Given the description of an element on the screen output the (x, y) to click on. 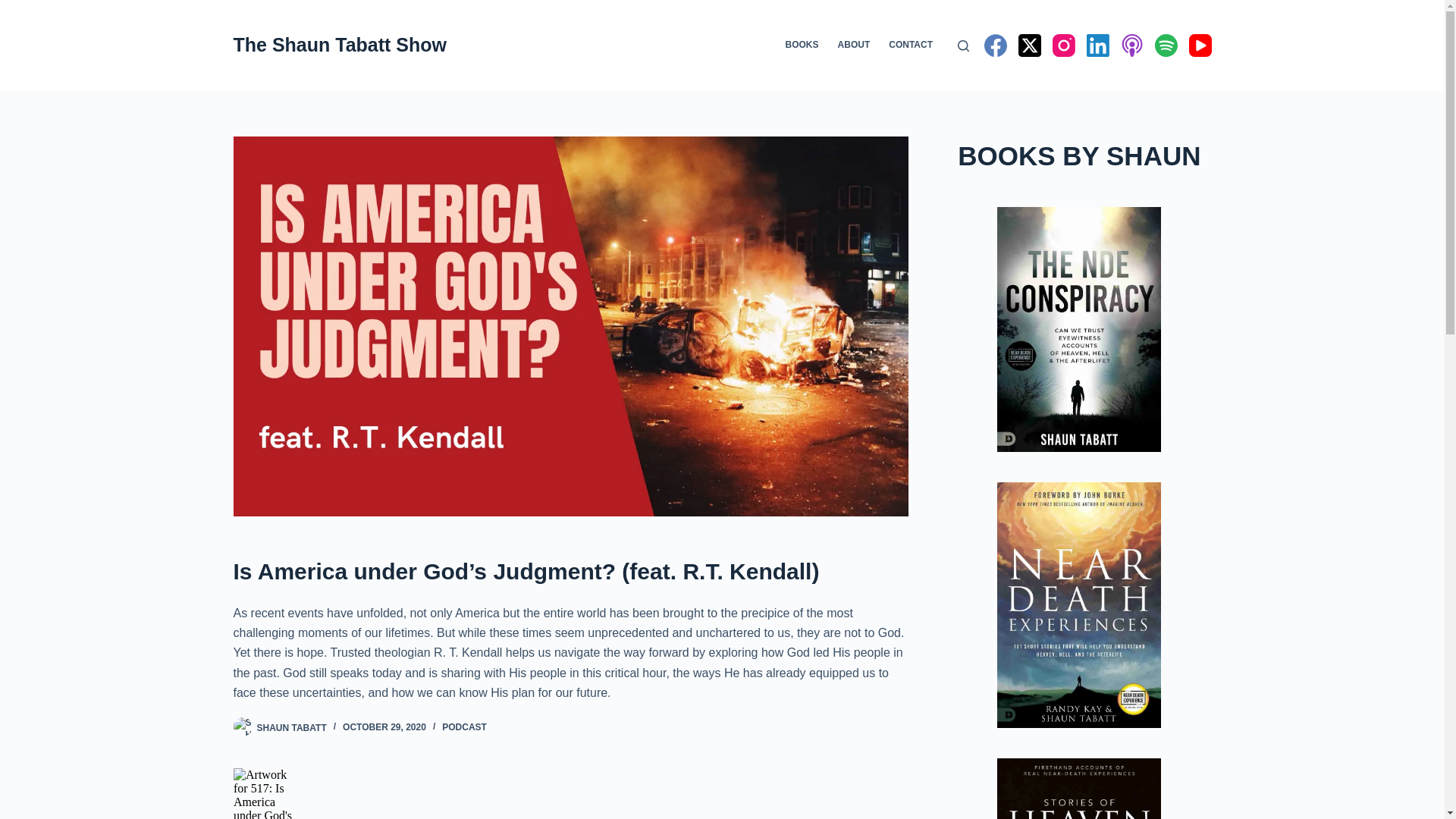
SHAUN TABATT (291, 726)
PODCAST (464, 726)
The Shaun Tabatt Show (339, 44)
Posts by Shaun Tabatt (291, 726)
Skip to content (15, 7)
